Given the description of an element on the screen output the (x, y) to click on. 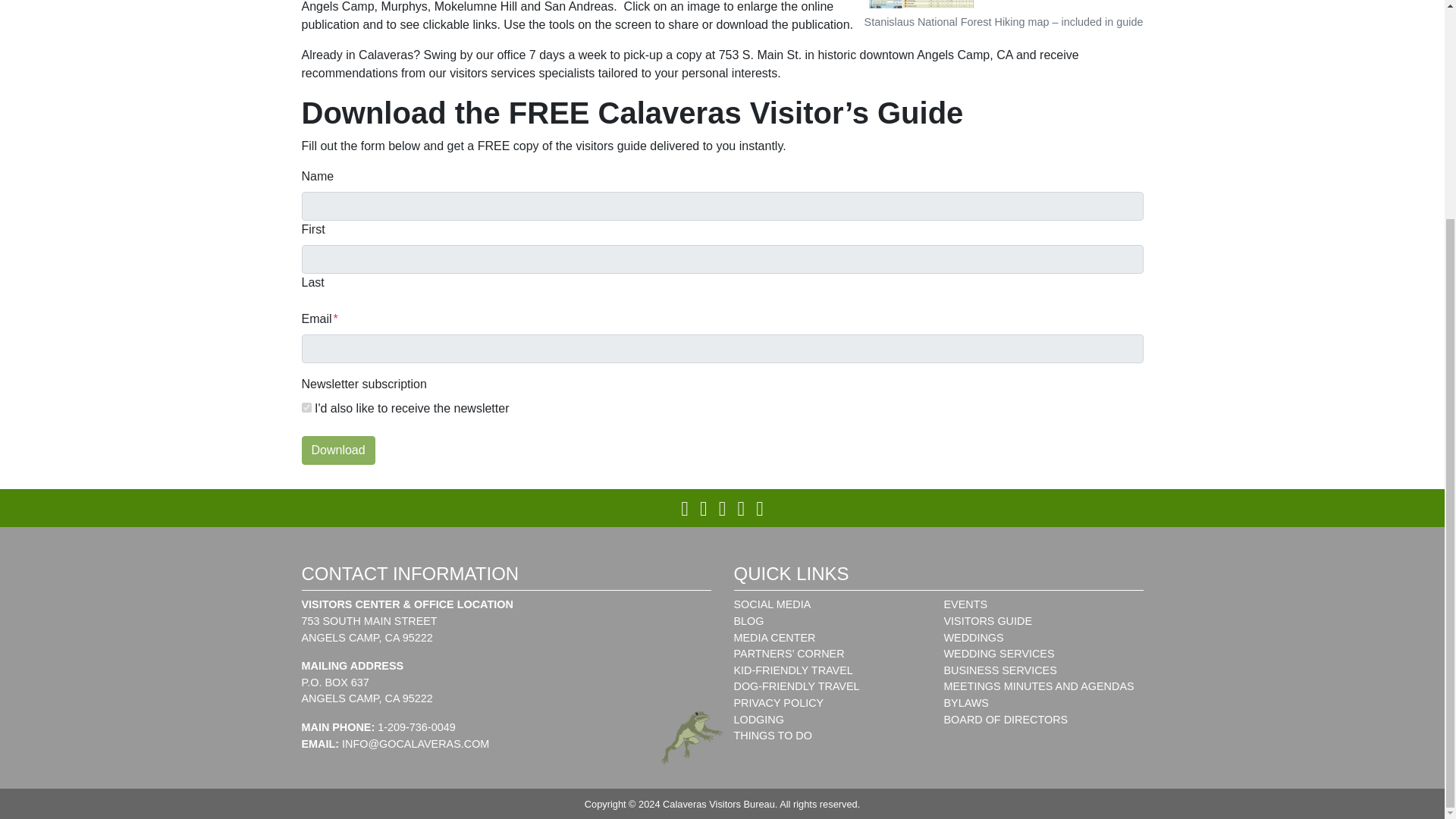
MEDIA CENTER (774, 637)
I'd also like to receive the newsletter (306, 407)
LODGING (758, 719)
DOG-FRIENDLY TRAVEL (796, 686)
SOCIAL MEDIA (771, 604)
KID-FRIENDLY TRAVEL (793, 670)
Download (338, 450)
VISITORS GUIDE (986, 621)
Download (338, 450)
EVENTS (965, 604)
